Given the description of an element on the screen output the (x, y) to click on. 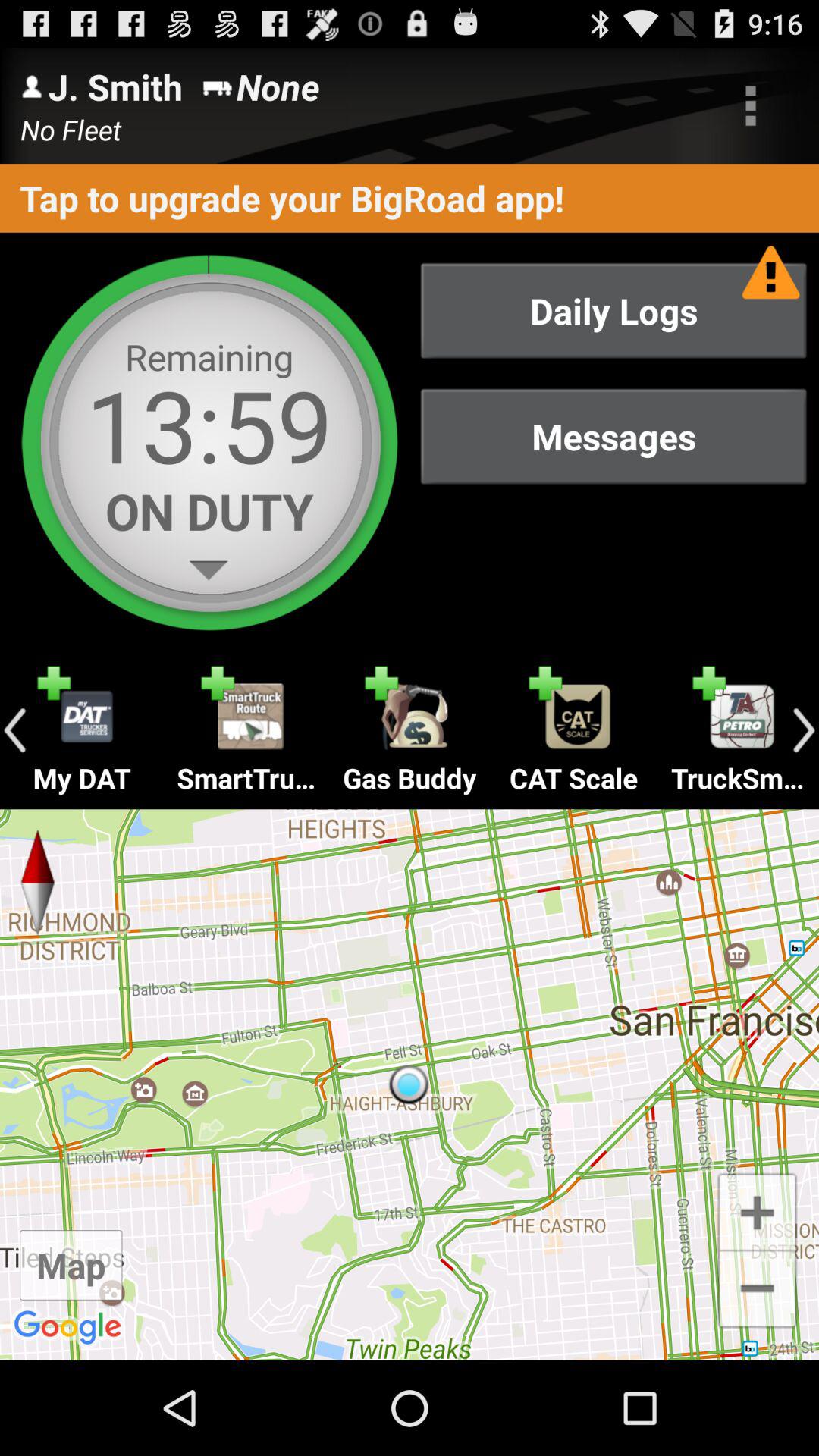
press the tap to upgrade icon (409, 197)
